Given the description of an element on the screen output the (x, y) to click on. 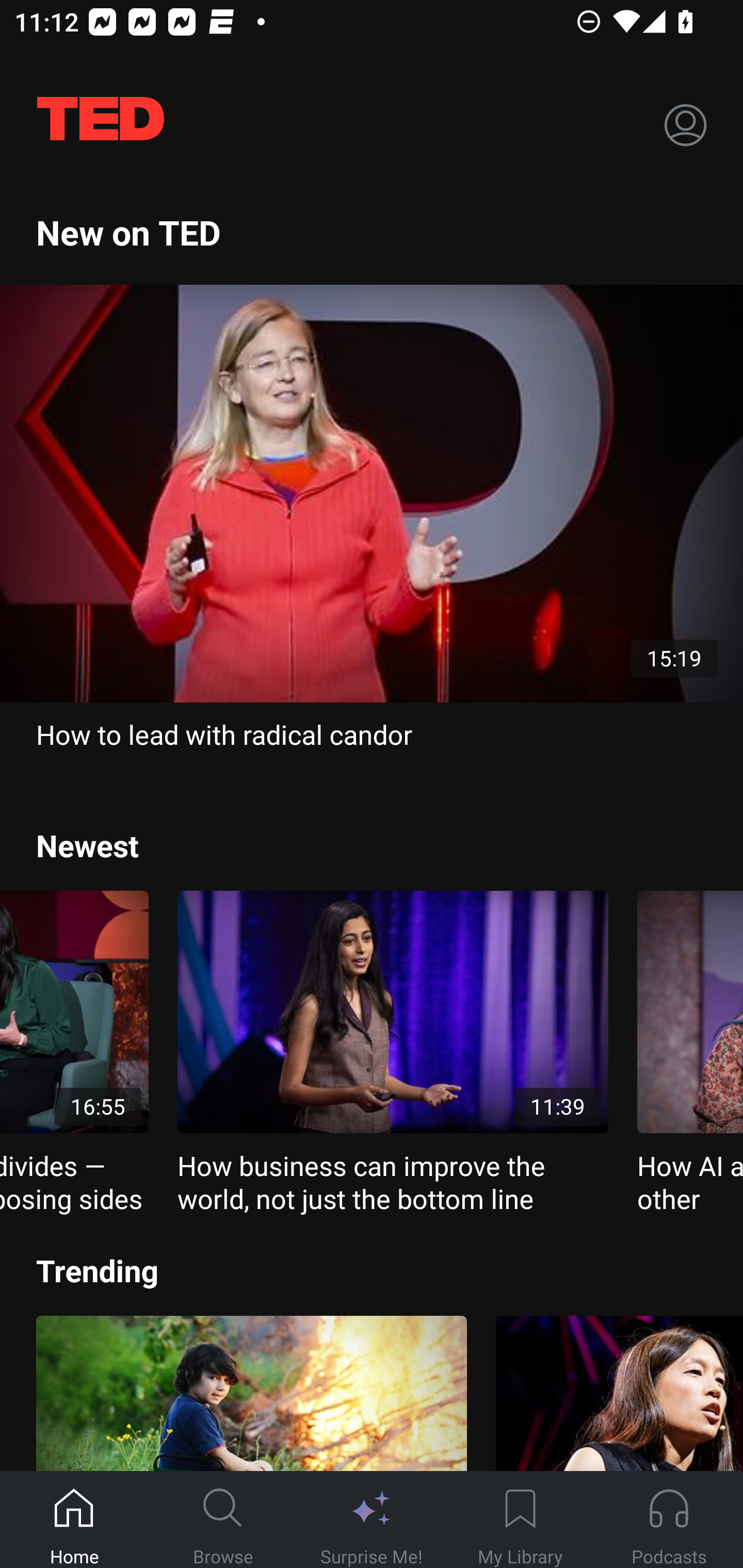
Home (74, 1520)
Browse (222, 1520)
Surprise Me! (371, 1520)
My Library (519, 1520)
Podcasts (668, 1520)
